Given the description of an element on the screen output the (x, y) to click on. 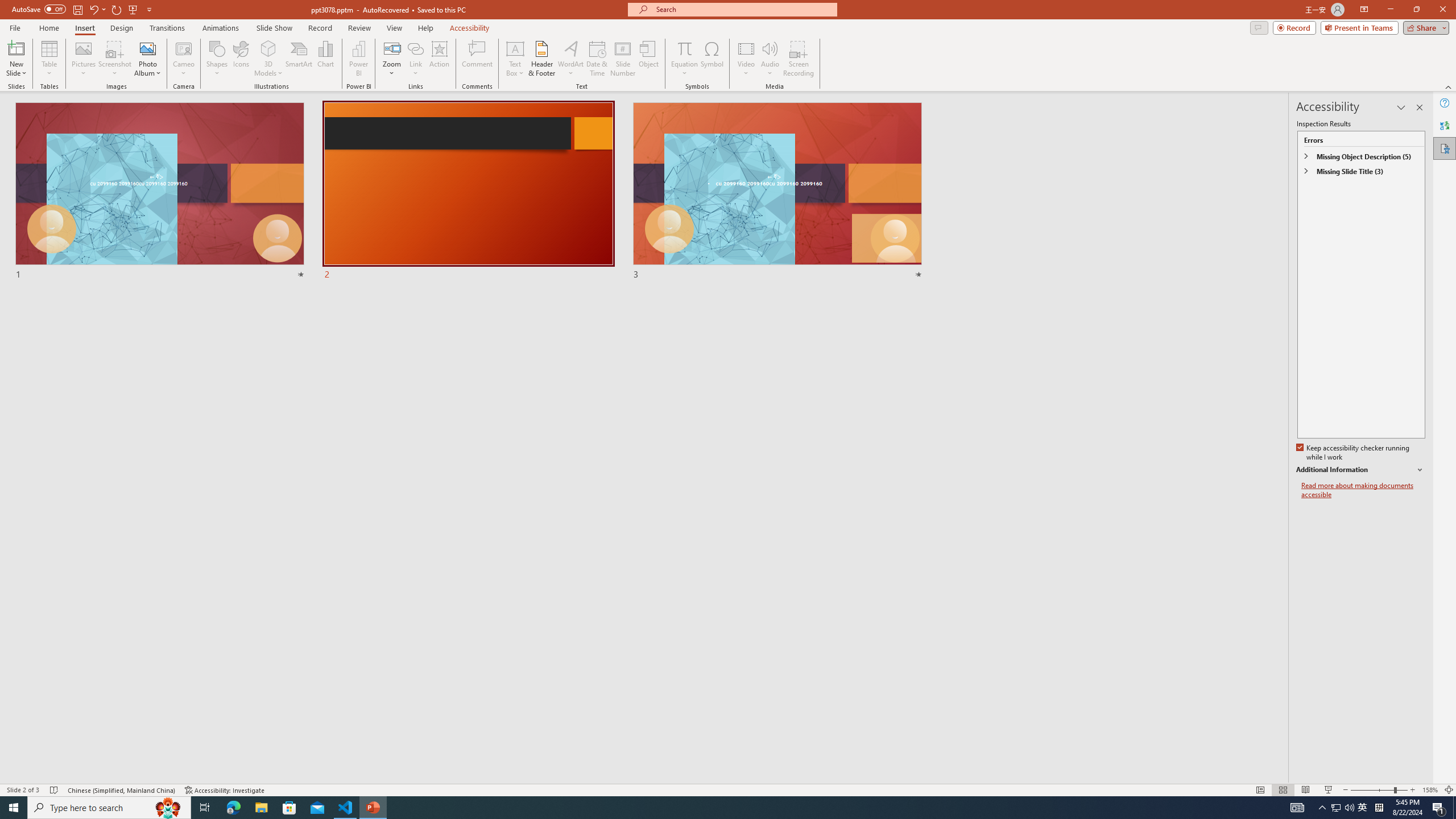
Photo Album... (147, 58)
Slide Number (622, 58)
Comment (476, 58)
Chart... (325, 58)
Symbol... (711, 58)
